Given the description of an element on the screen output the (x, y) to click on. 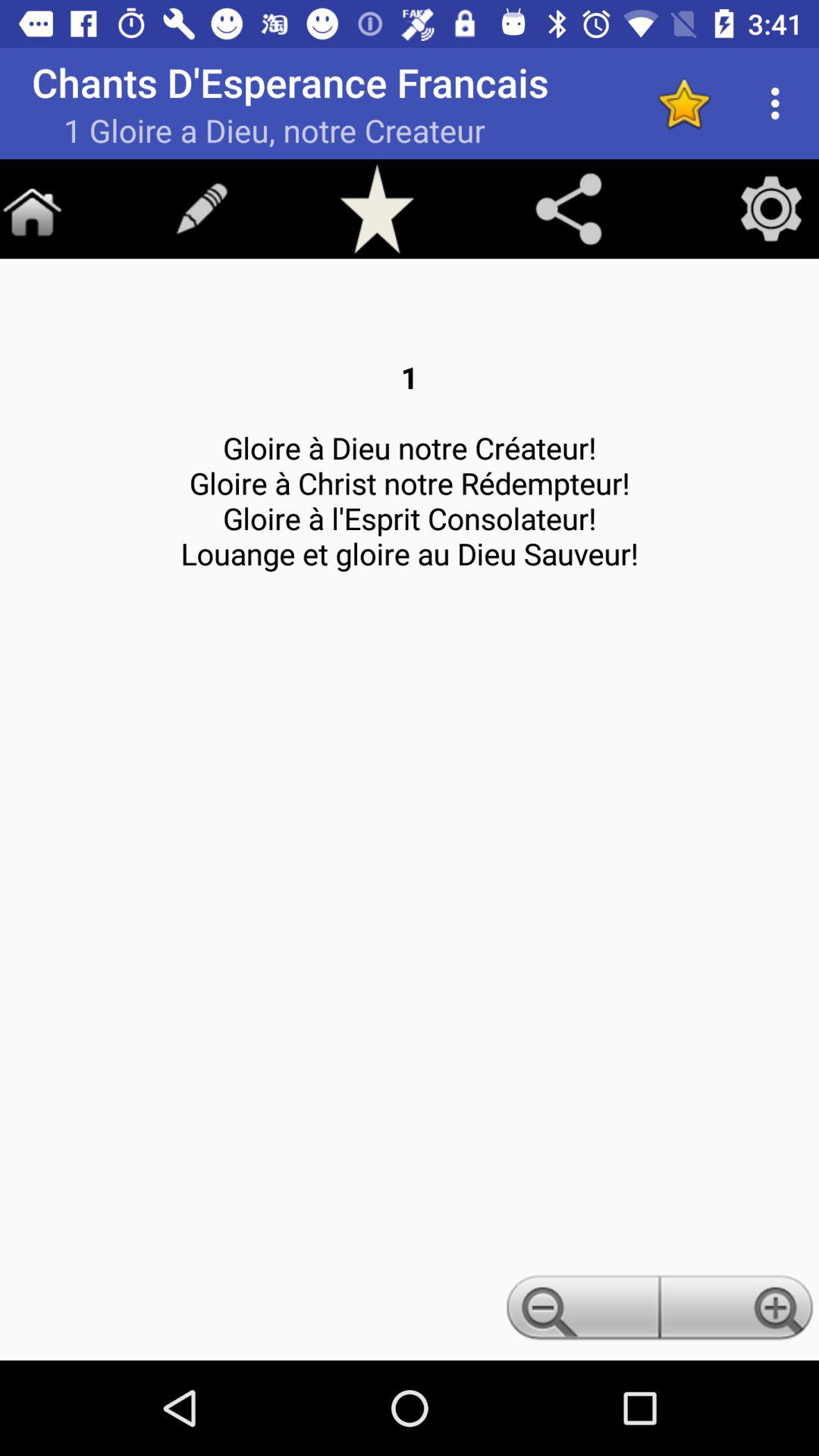
go to home (31, 208)
